Given the description of an element on the screen output the (x, y) to click on. 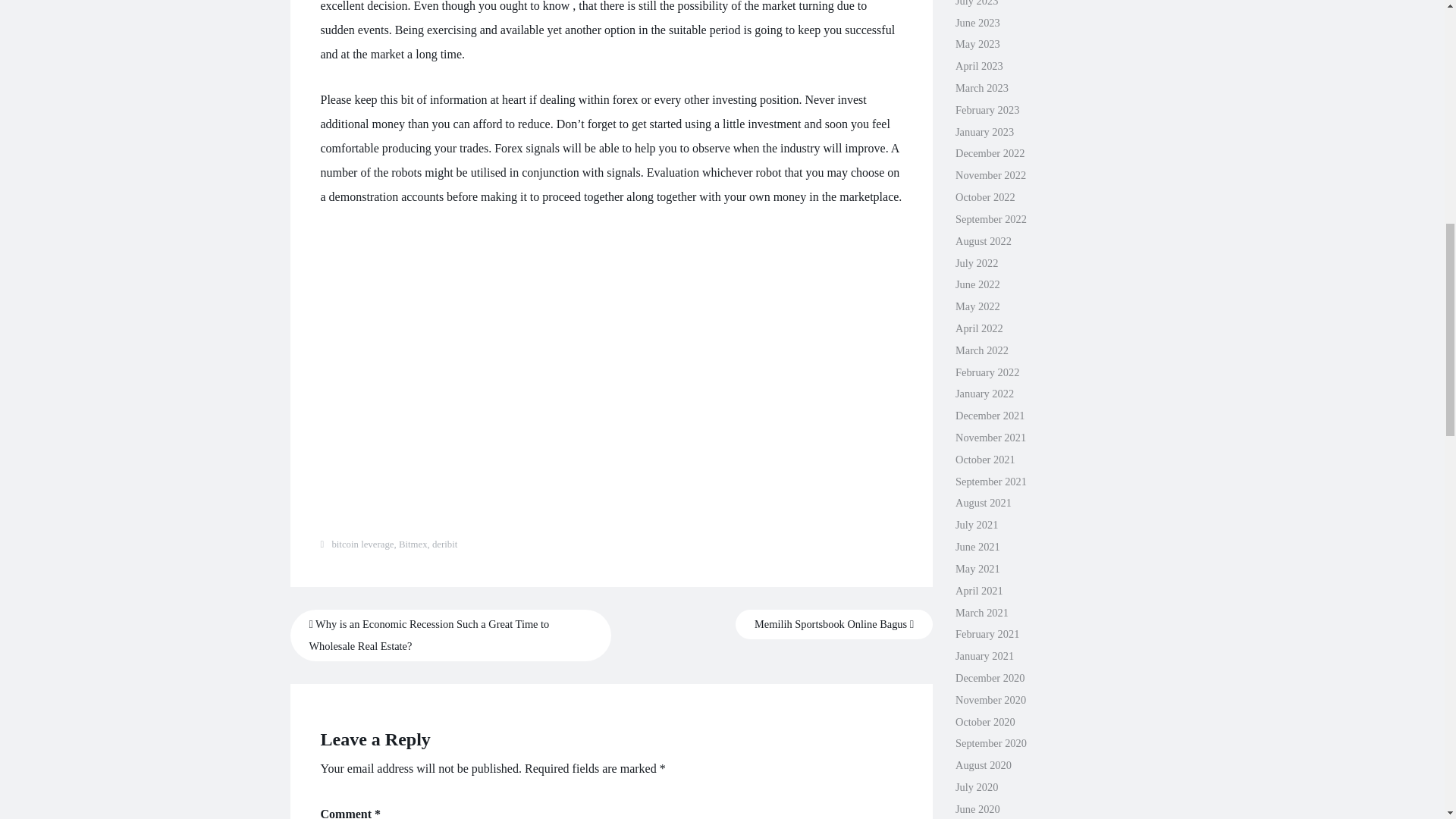
bitcoin leverage (362, 543)
Memilih Sportsbook Online Bagus (834, 624)
deribit (444, 543)
Bitmex (413, 543)
Blockchain Whispers - Join us! (562, 366)
June 2023 (977, 22)
May 2023 (977, 43)
July 2023 (976, 3)
